Given the description of an element on the screen output the (x, y) to click on. 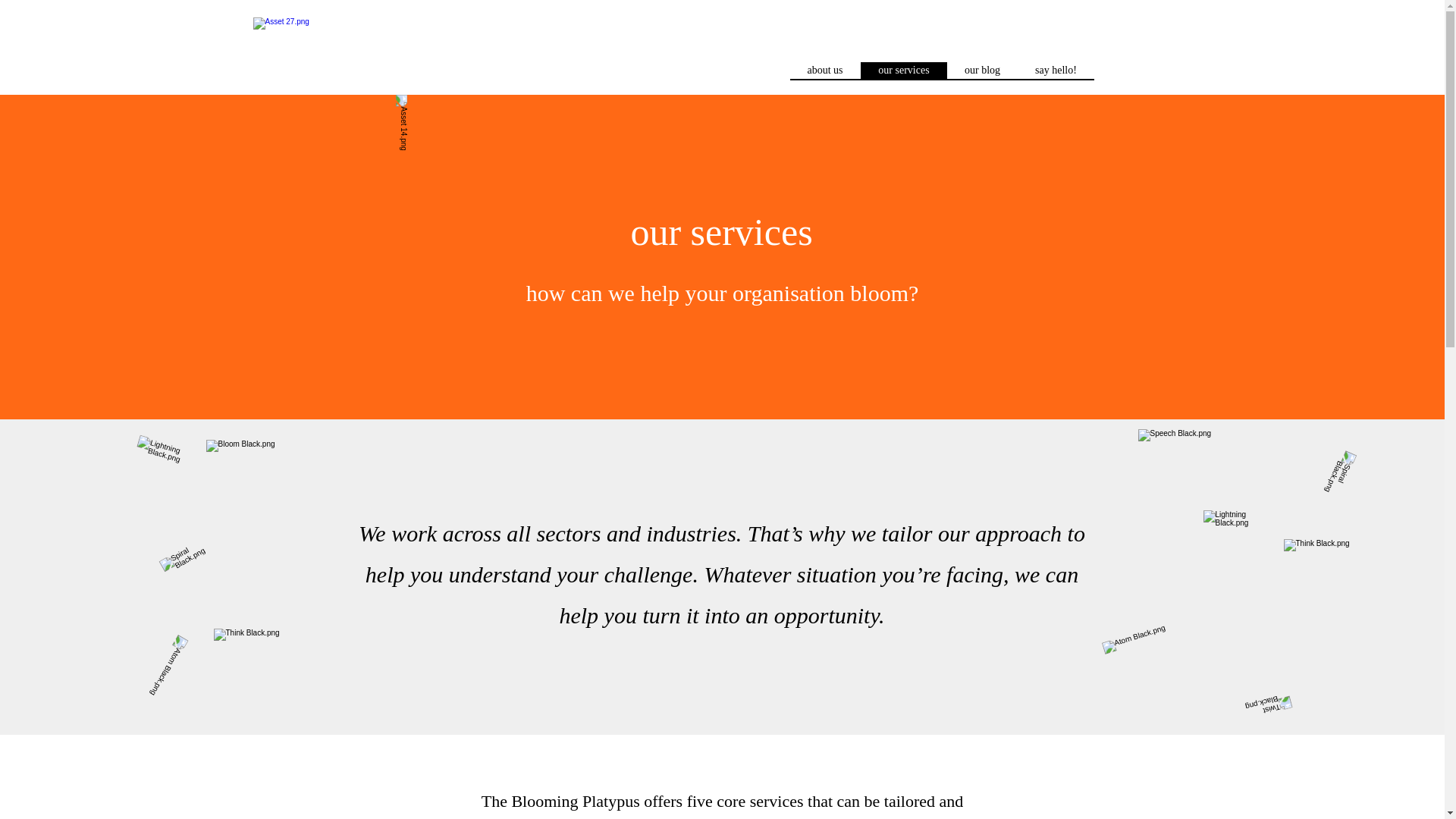
our blog (981, 70)
about us (825, 70)
say hello! (1055, 70)
our services (903, 70)
